Given the description of an element on the screen output the (x, y) to click on. 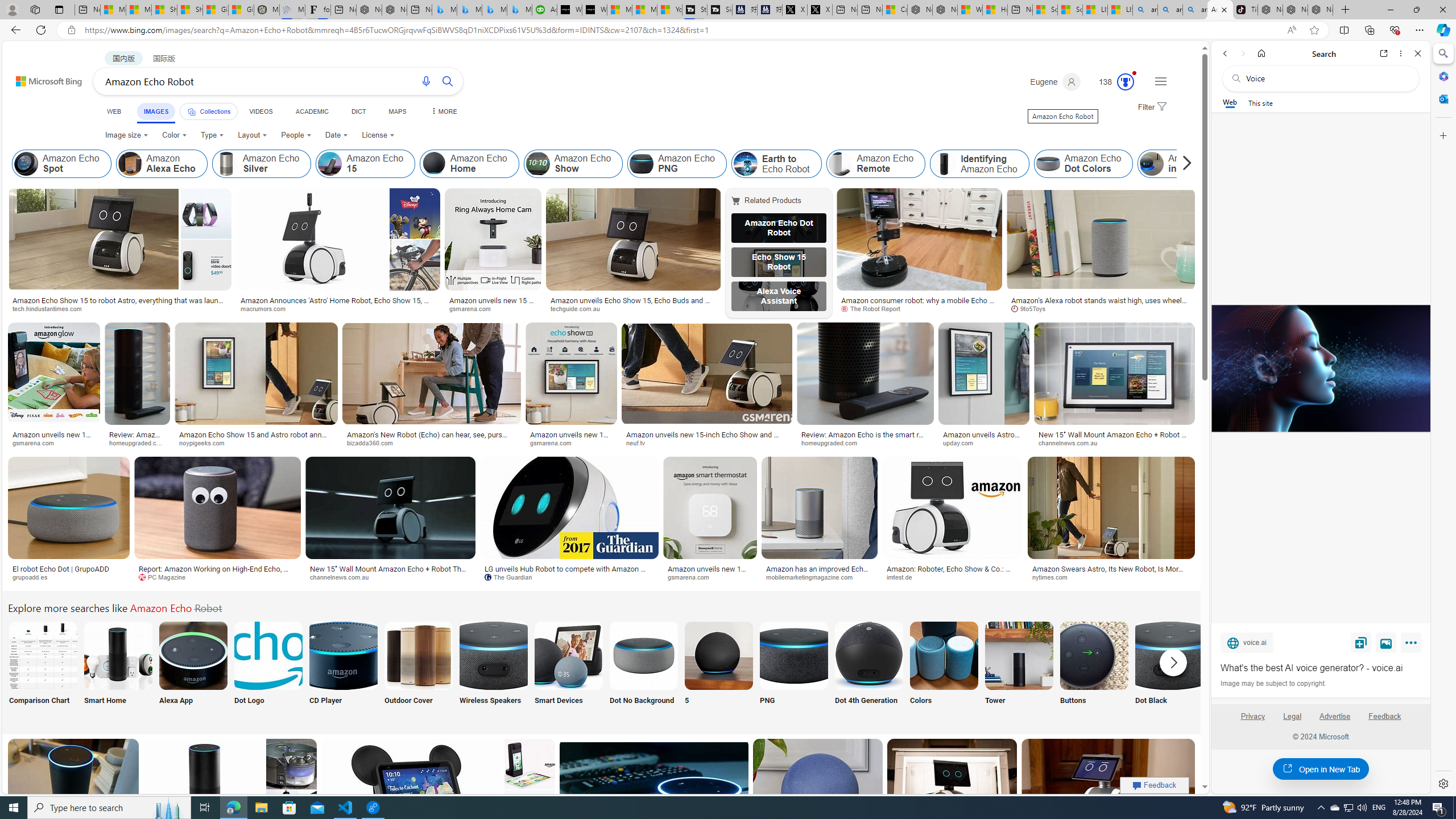
tech.hindustantimes.com (51, 308)
People (295, 135)
Outdoor Cover (418, 669)
WEB (114, 111)
Comparison Chart (42, 669)
VIDEOS (260, 111)
